Given the description of an element on the screen output the (x, y) to click on. 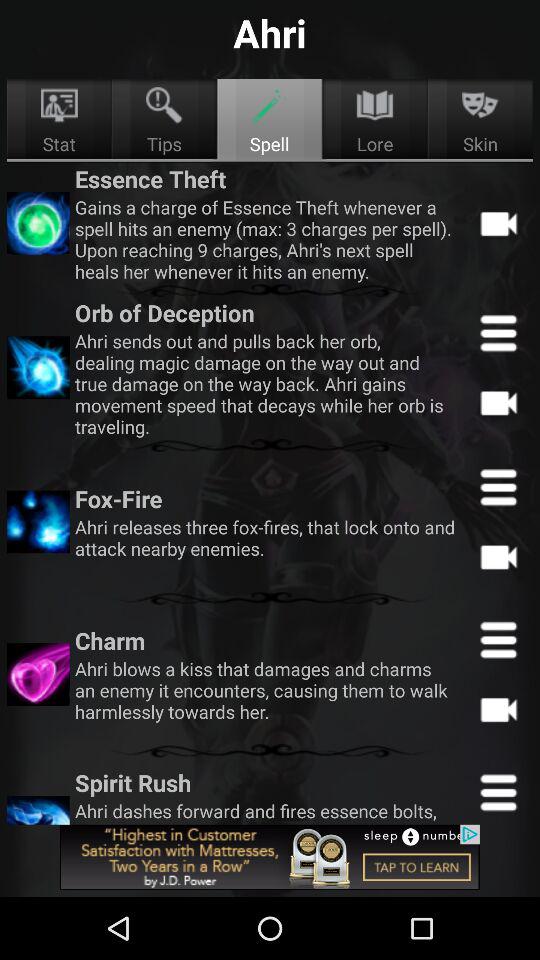
advertisement (270, 857)
